Given the description of an element on the screen output the (x, y) to click on. 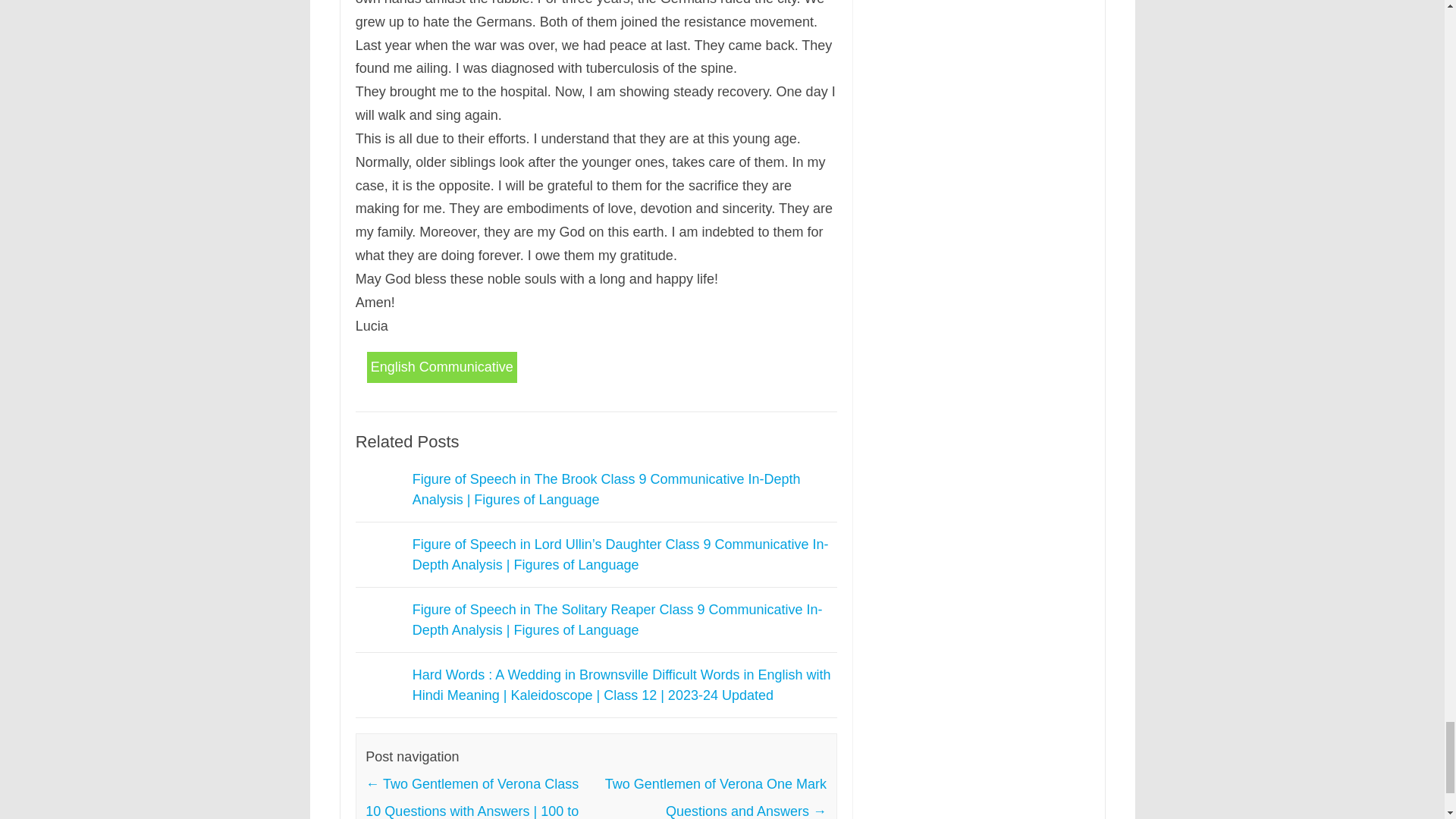
English Communicative (441, 367)
